Given the description of an element on the screen output the (x, y) to click on. 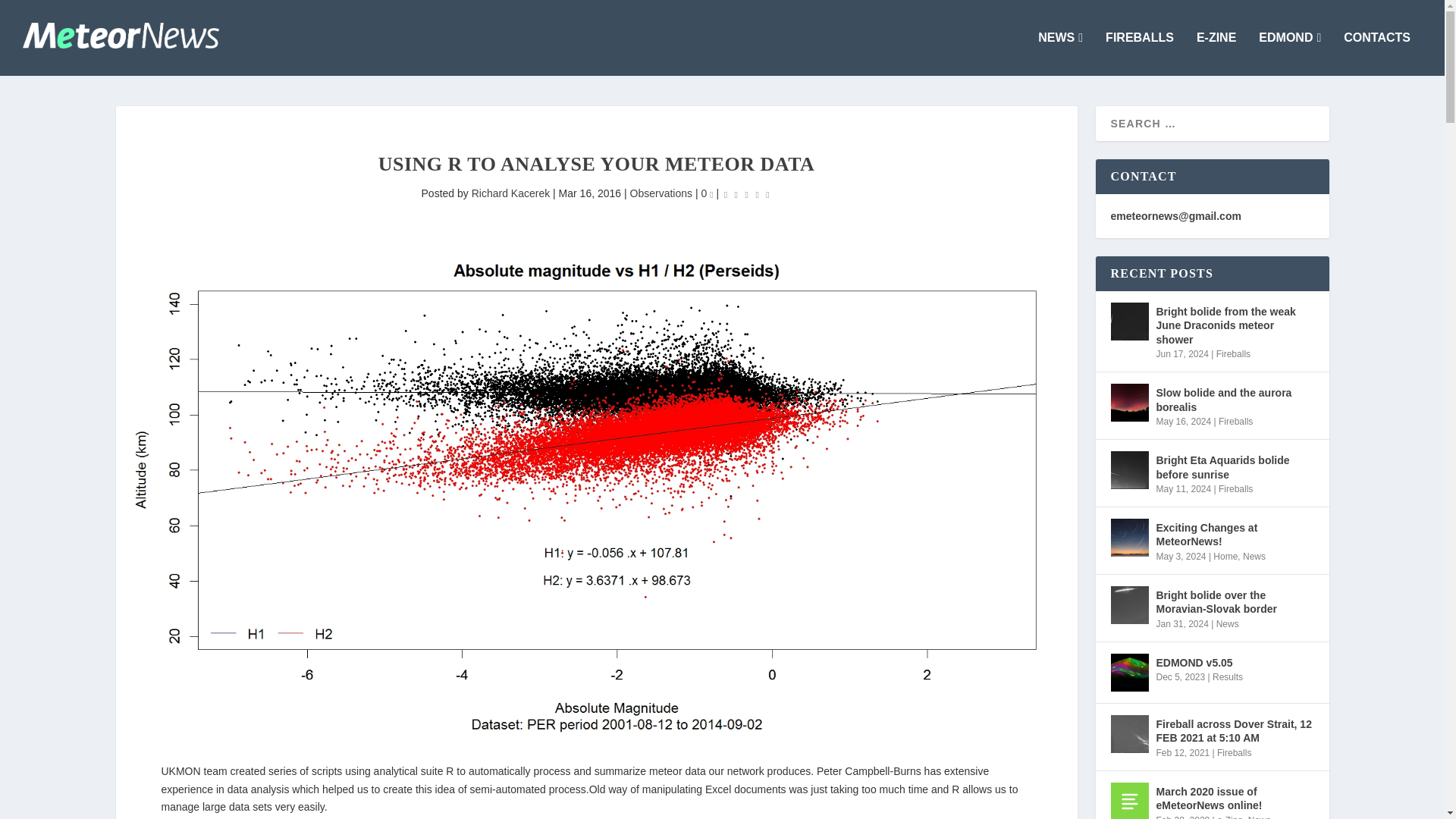
0 (706, 193)
EDMOND (1289, 53)
Observations (661, 193)
NEWS (1060, 53)
Richard Kacerek (510, 193)
FIREBALLS (1139, 53)
E-ZINE (1216, 53)
CONTACTS (1376, 53)
Rating: 0.00 (746, 194)
Posts by Richard Kacerek (510, 193)
